Given the description of an element on the screen output the (x, y) to click on. 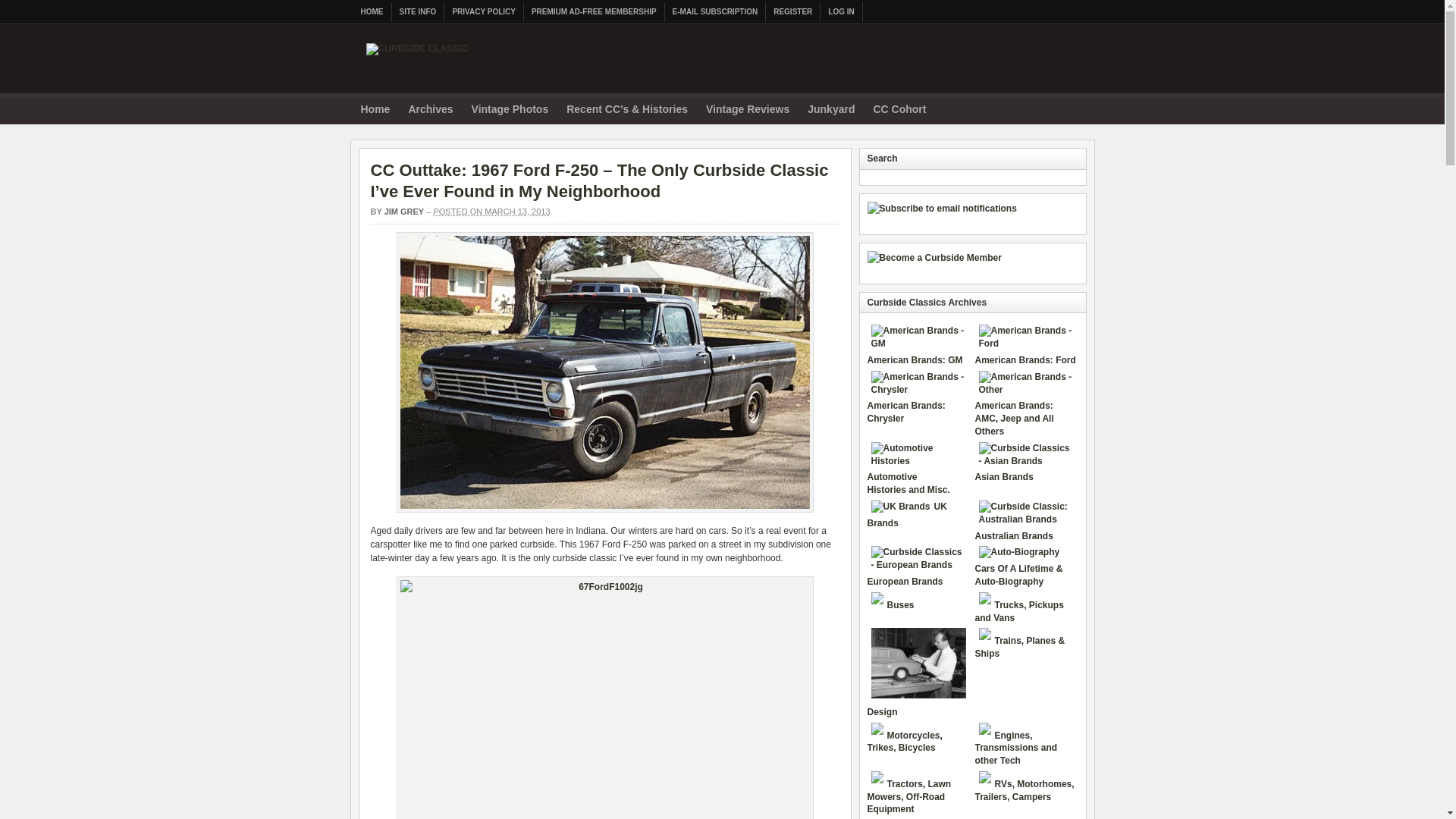
Vintage Photos (510, 110)
E-MAIL SUBSCRIPTION (716, 12)
SITE INFO (417, 12)
Curbside Classic RSS Feed (1078, 108)
LOG IN (841, 12)
Home (375, 110)
HOME (372, 12)
Jim Grey (404, 211)
Curbside Classic (416, 56)
REGISTER (793, 12)
